Given the description of an element on the screen output the (x, y) to click on. 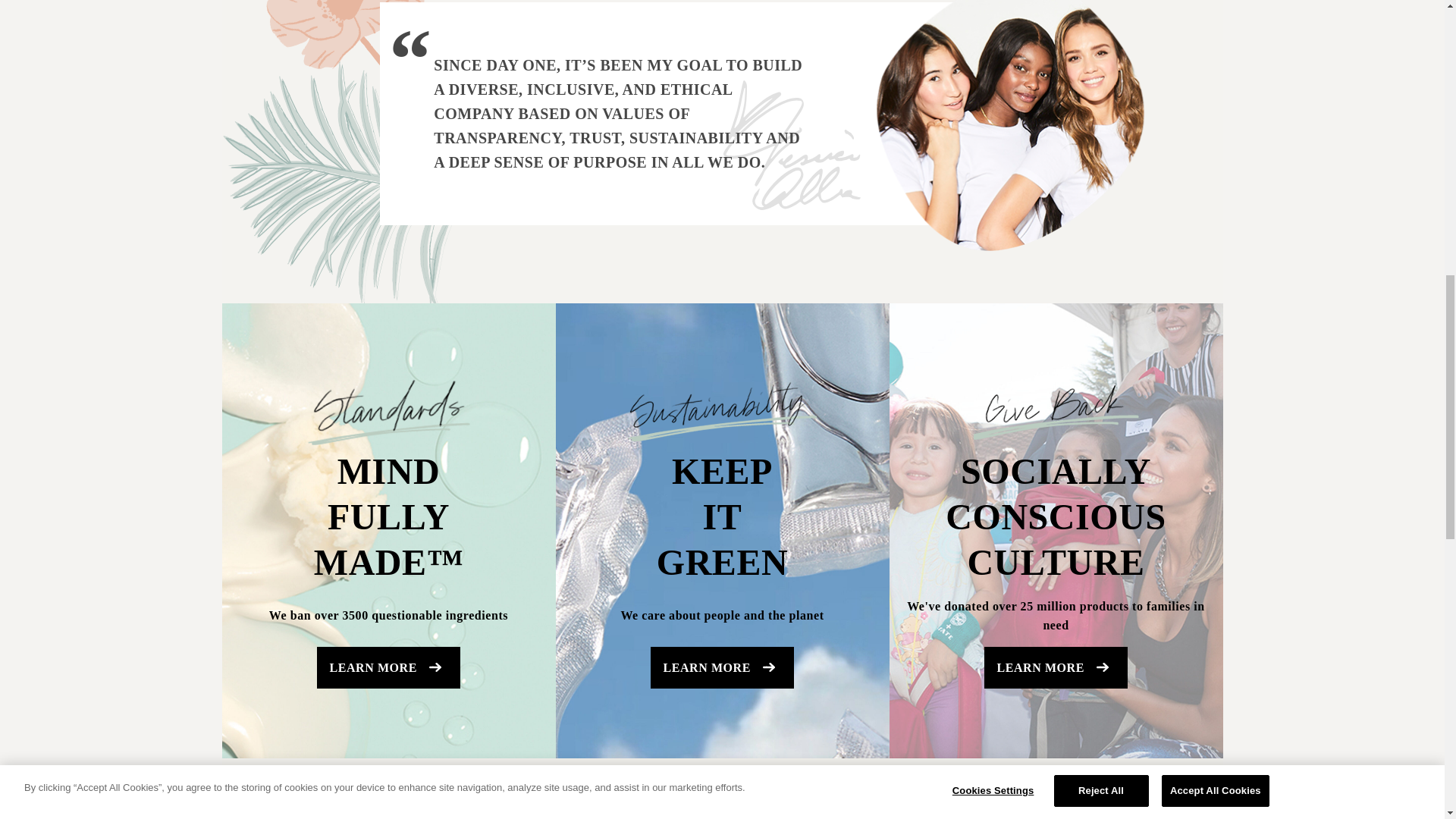
jessica alba qoute image (1009, 125)
Standards (388, 410)
jessica alba signature grey (791, 144)
Standards (721, 410)
Give Back (1056, 410)
